Given the description of an element on the screen output the (x, y) to click on. 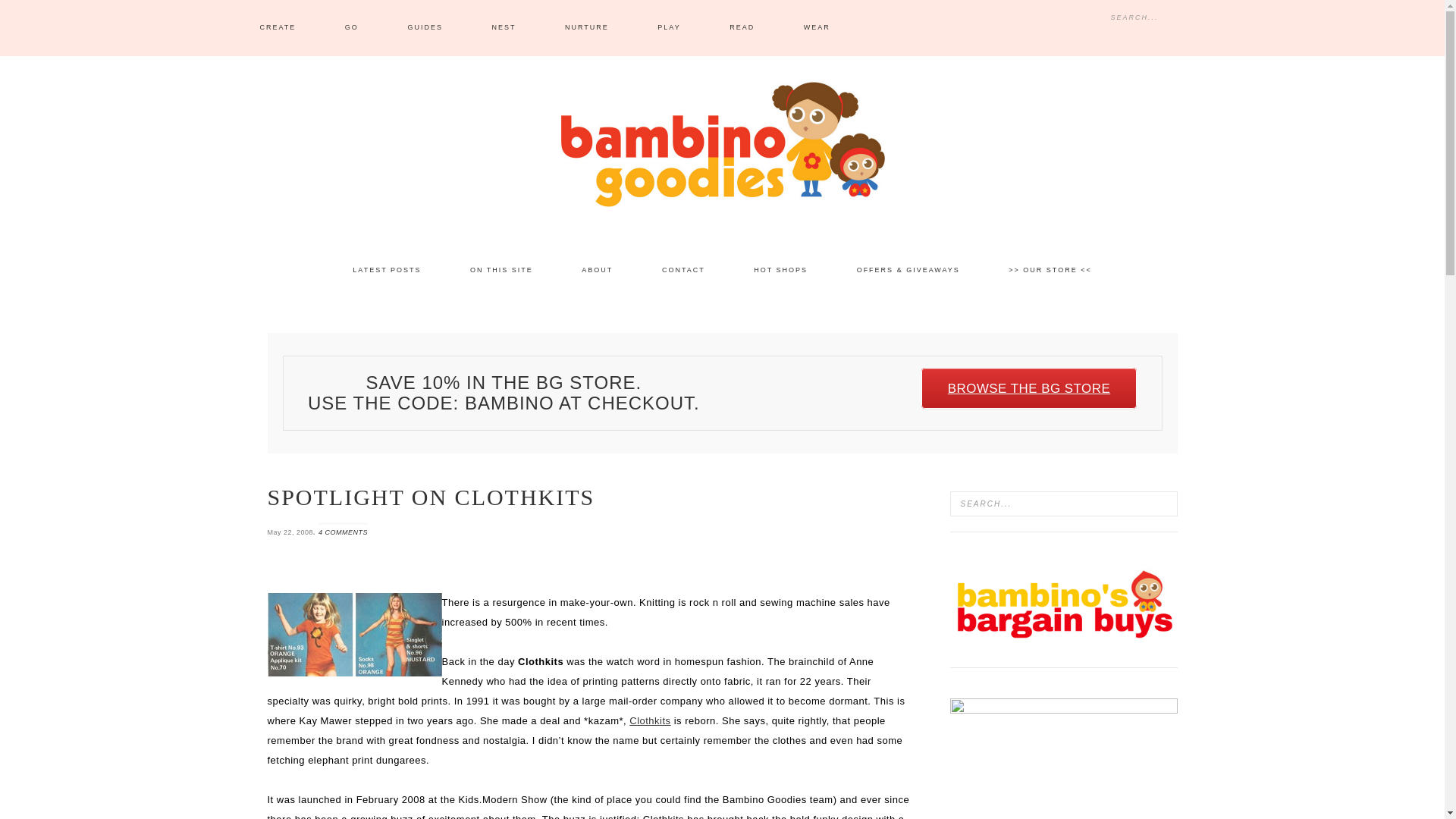
WEAR (816, 28)
Clothkits (648, 720)
NURTURE (586, 28)
READ (741, 28)
CREATE (276, 28)
ON THIS SITE (501, 270)
PLAY (668, 28)
GO (351, 28)
